Given the description of an element on the screen output the (x, y) to click on. 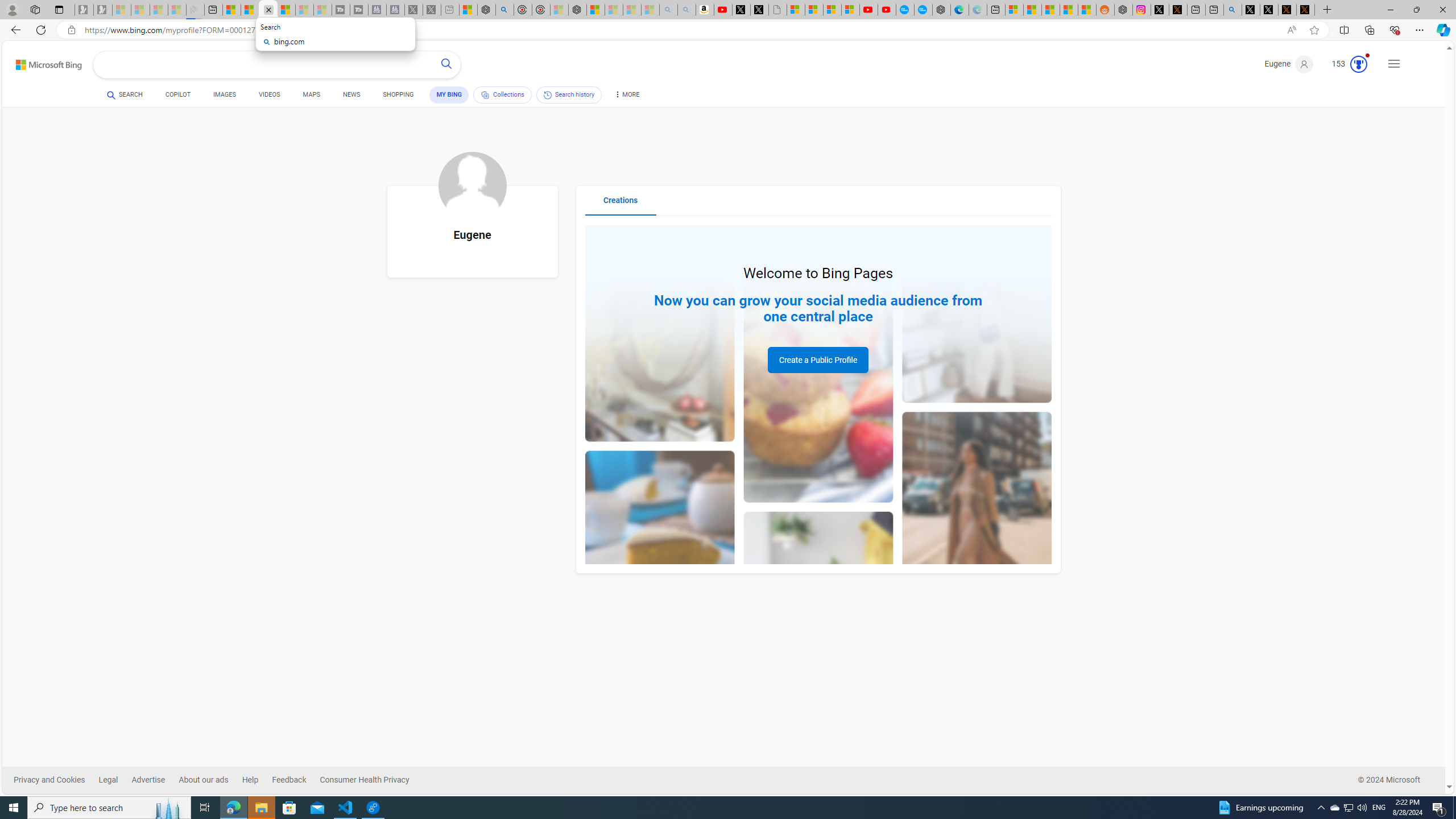
Shanghai, China Weather trends | Microsoft Weather (1086, 9)
Consumer Health Privacy (364, 779)
Settings and quick links (1394, 63)
Profile / X (1251, 9)
SEARCH (124, 94)
